Given the description of an element on the screen output the (x, y) to click on. 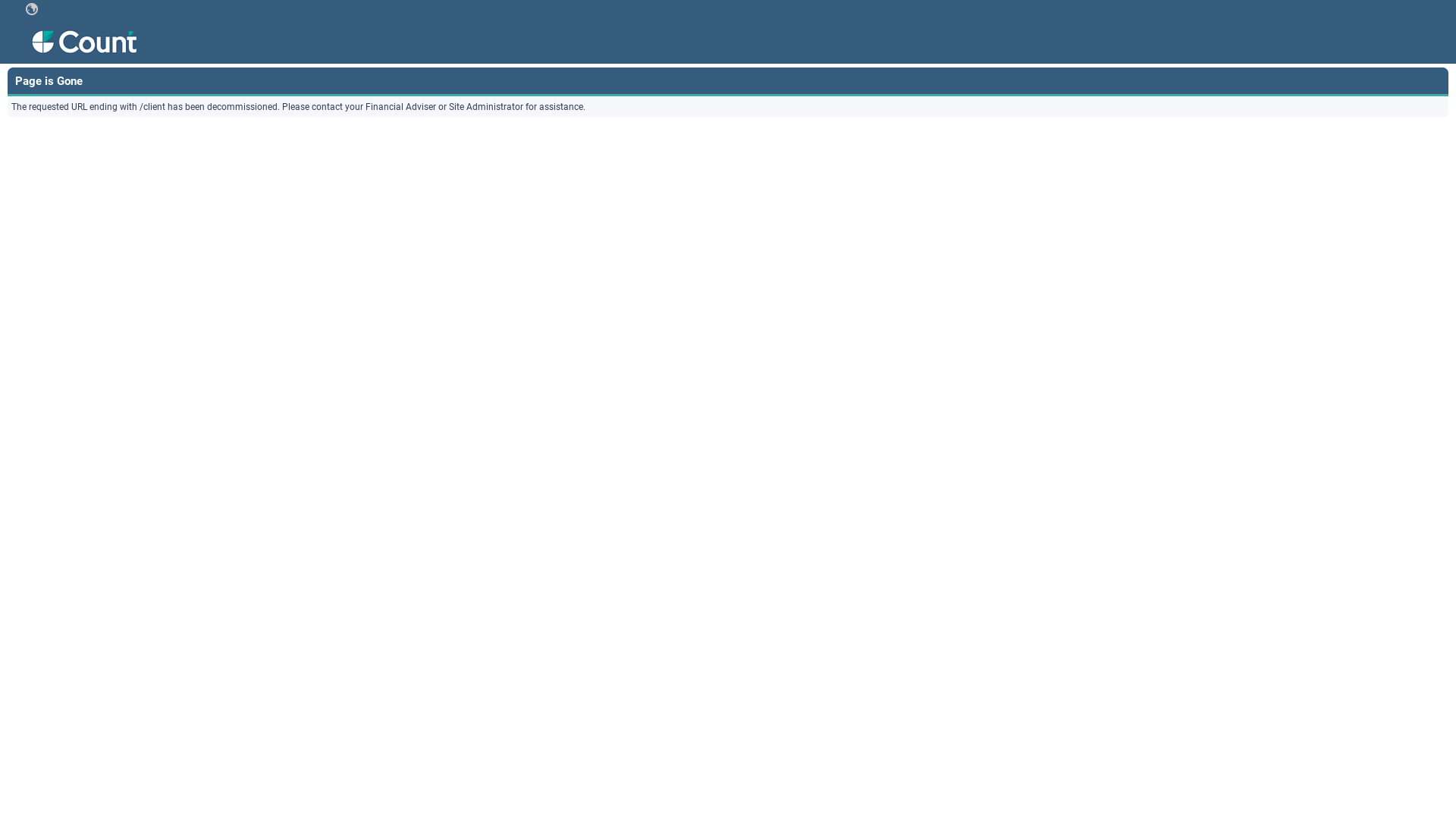
  Element type: text (31, 9)
